Given the description of an element on the screen output the (x, y) to click on. 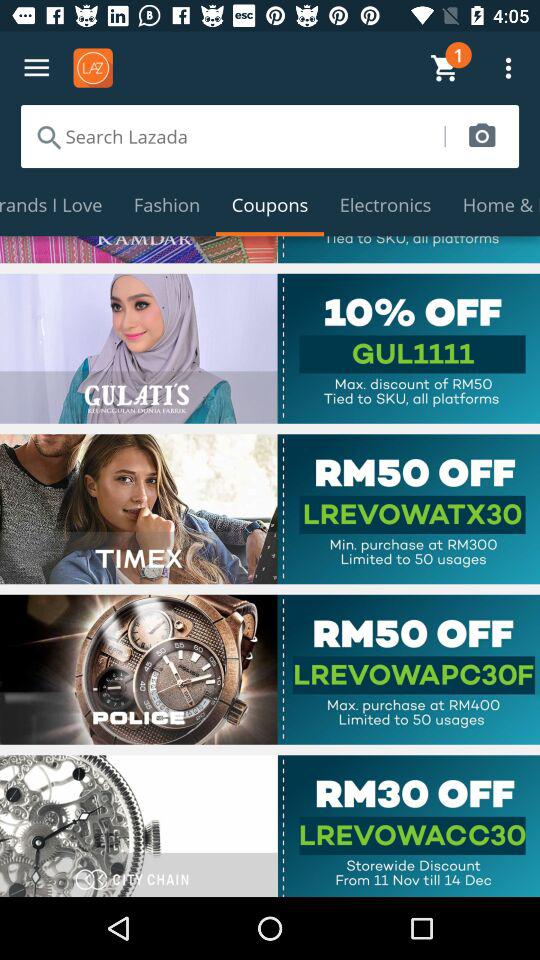
search (232, 136)
